Given the description of an element on the screen output the (x, y) to click on. 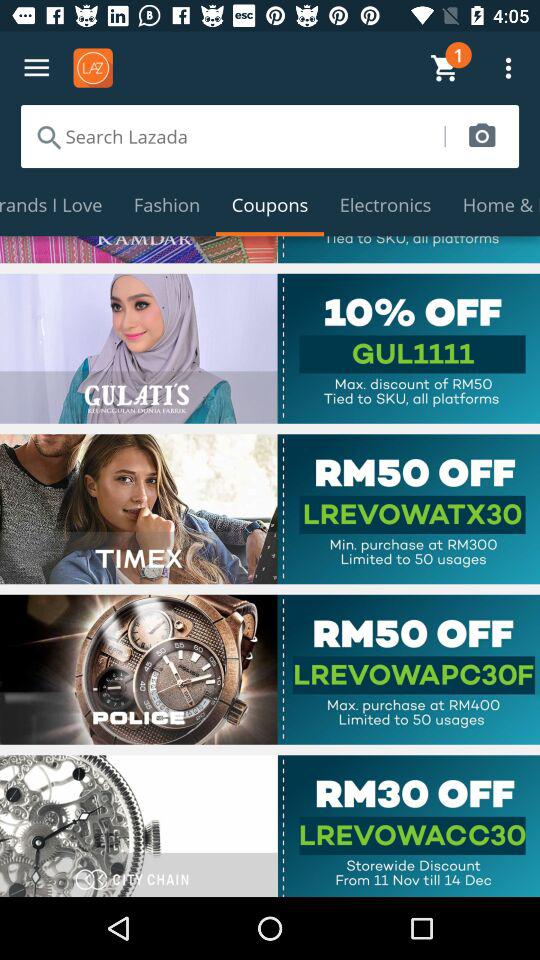
search (232, 136)
